Given the description of an element on the screen output the (x, y) to click on. 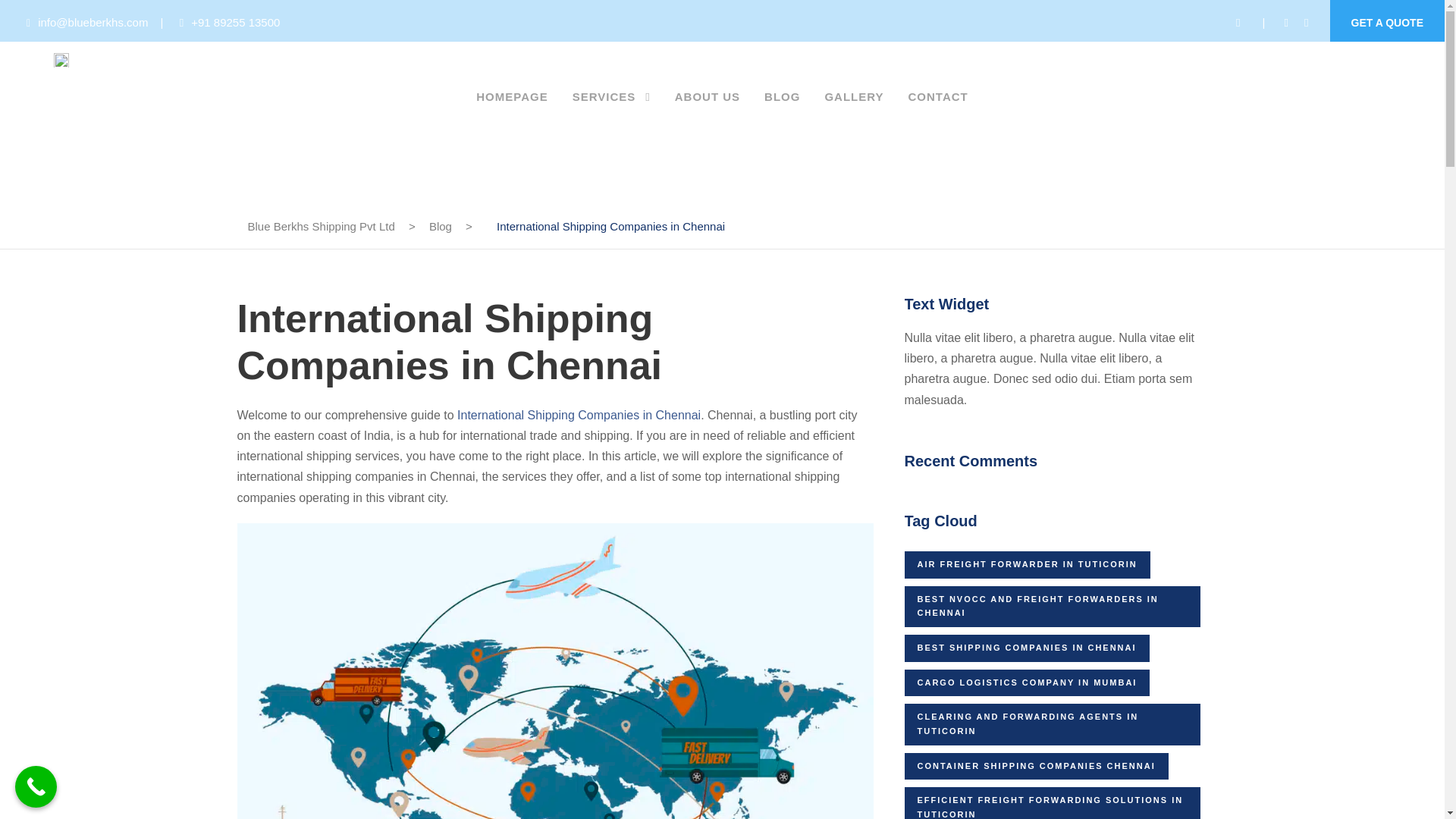
logo (60, 60)
HOMEPAGE (511, 104)
Go to the Blog Category archives. (440, 226)
GALLERY (853, 104)
CONTACT (938, 104)
SERVICES (611, 104)
Go to Blue Berkhs Shipping Pvt Ltd. (320, 226)
Posts by Blueberkhs User (392, 80)
ABOUT US (707, 104)
BLOG (781, 104)
